Given the description of an element on the screen output the (x, y) to click on. 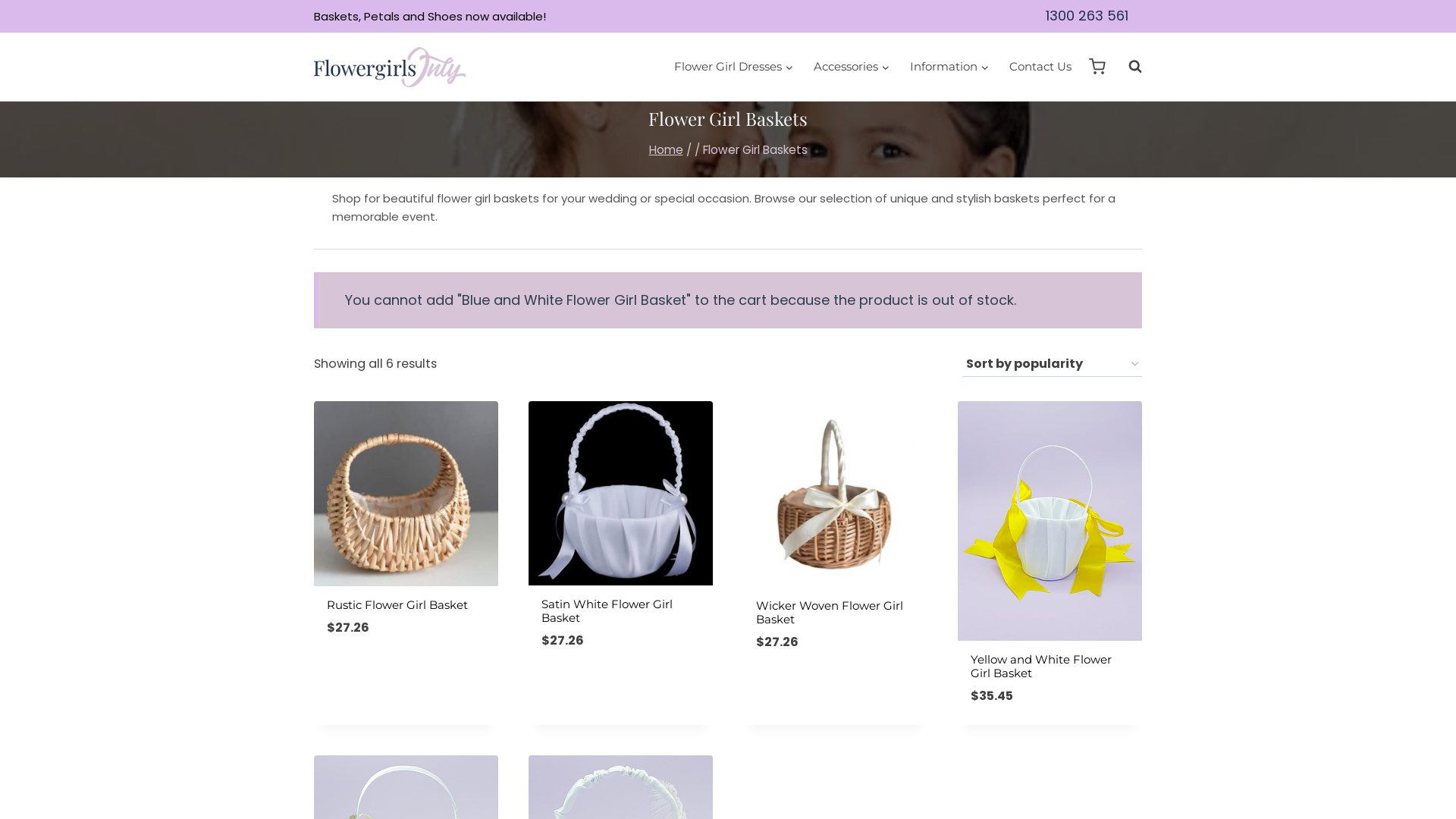
Home Element type: text (666, 149)
Satin White Flower Girl Basket Element type: text (606, 610)
Wicker Woven Flower Girl Basket Element type: text (829, 612)
Yellow and White Flower Girl Basket Element type: text (1040, 666)
Contact Us Element type: text (1039, 66)
1300 263 561 Element type: text (1087, 16)
Information Element type: text (948, 66)
Flower Girl Dresses Element type: text (733, 66)
Accessories Element type: text (851, 66)
Rustic Flower Girl Basket Element type: text (396, 604)
